Given the description of an element on the screen output the (x, y) to click on. 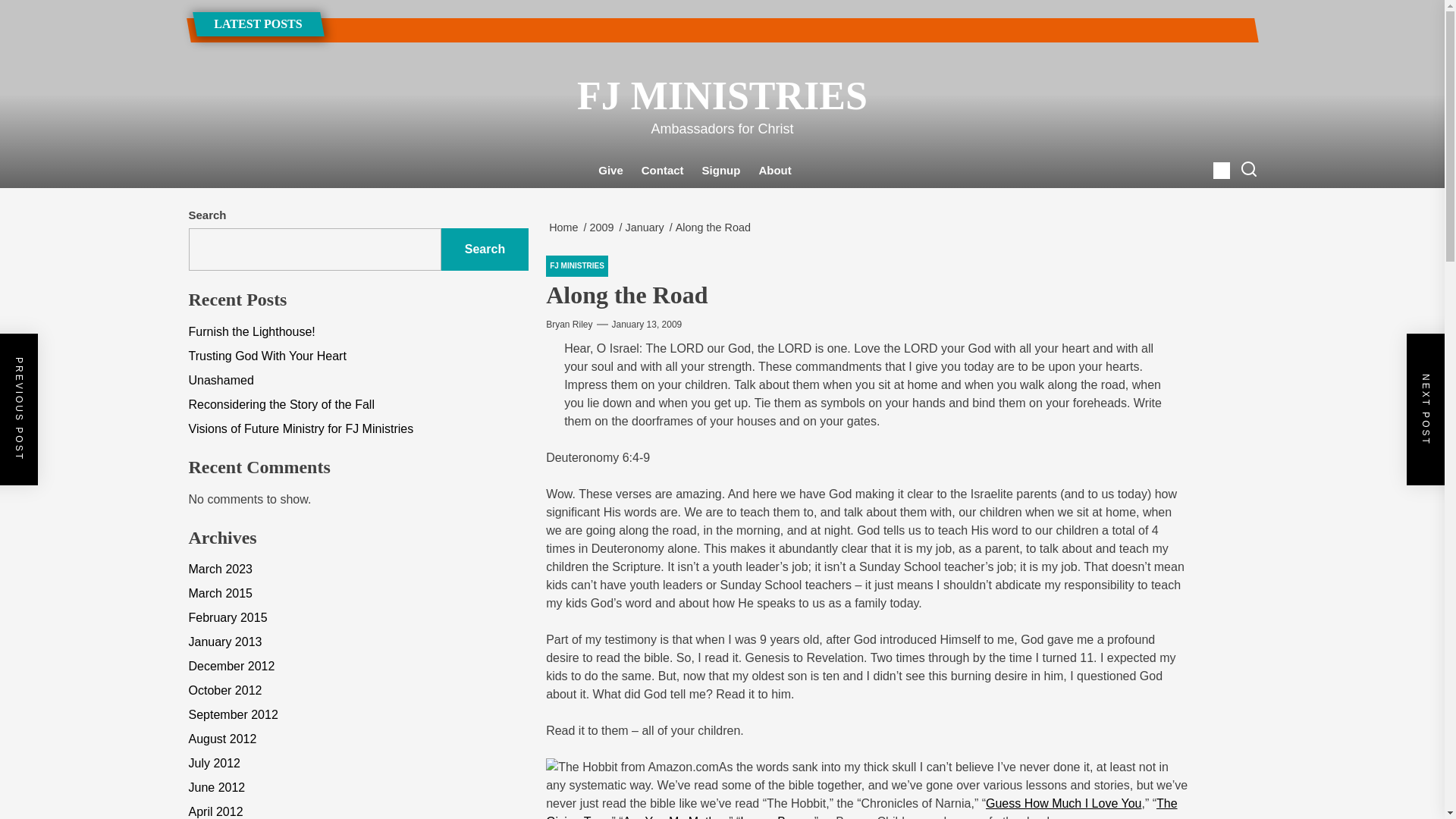
Give (610, 170)
I am a Bunny (774, 816)
Along the Road (715, 227)
Guess How Much I Love You (1063, 802)
The Giving Tree (861, 807)
FJ MINISTRIES (721, 95)
Contact (662, 170)
2009 (604, 227)
January (647, 227)
FJ MINISTRIES (577, 265)
Home (566, 227)
Are You My Mother (674, 816)
Bryan Riley (569, 324)
January 13, 2009 (646, 324)
About (774, 170)
